Given the description of an element on the screen output the (x, y) to click on. 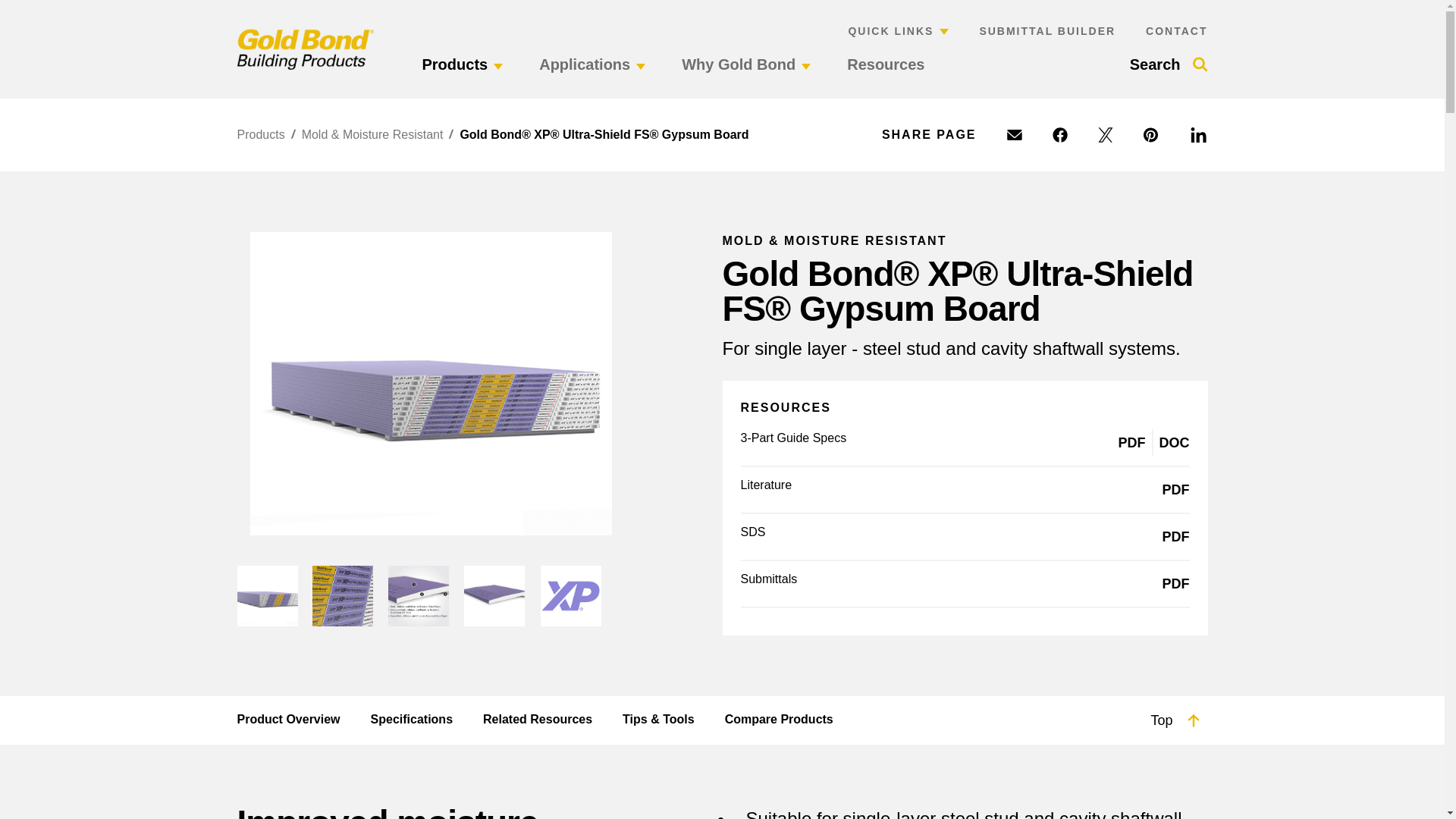
CONTACT (1176, 30)
SDS01003 - XP Gypsum Board.pdf (1175, 536)
Applications (591, 73)
Resources (885, 73)
Products (462, 73)
SUBMITTAL BUILDER (1046, 30)
Why Gold Bond (745, 73)
